Given the description of an element on the screen output the (x, y) to click on. 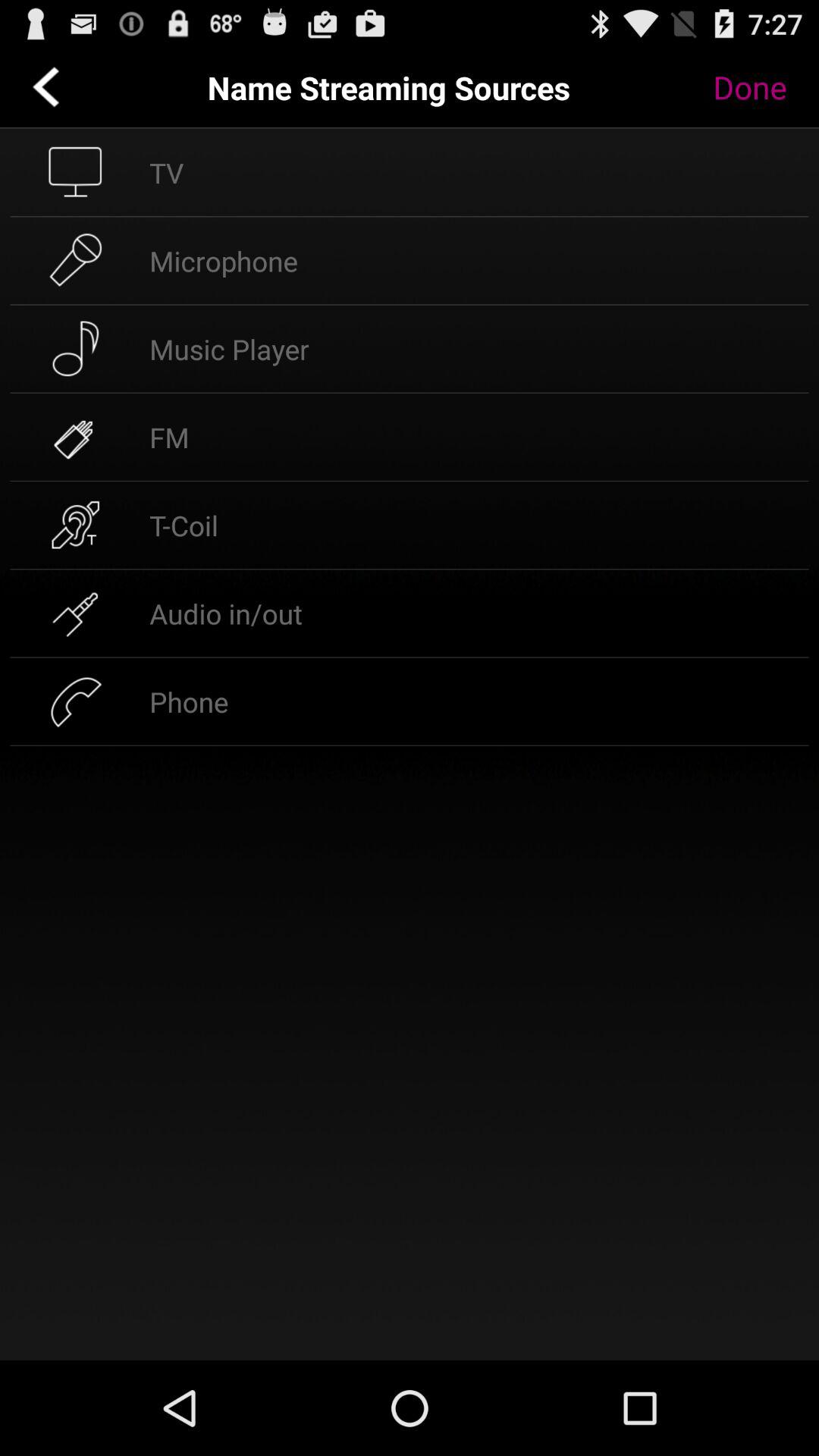
turn off the done at the top right corner (760, 87)
